Given the description of an element on the screen output the (x, y) to click on. 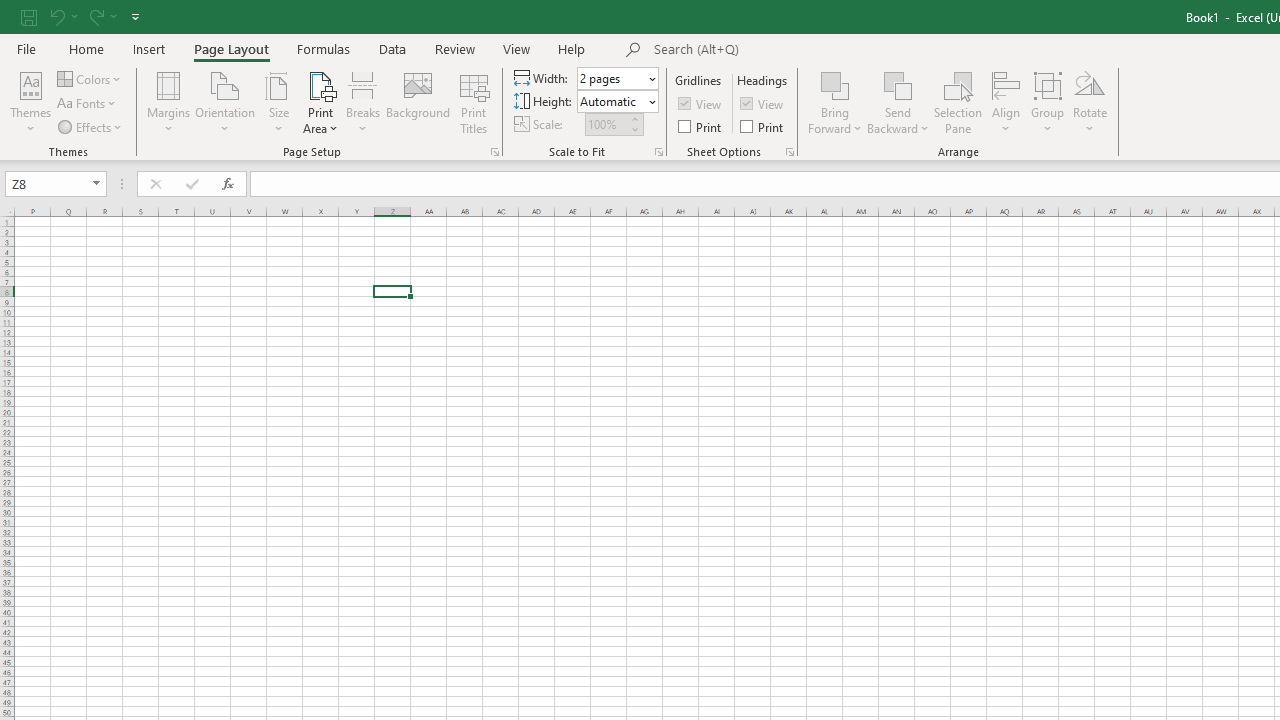
Height (618, 101)
Rotate (1089, 102)
Less (633, 129)
Effects (91, 126)
Align (1005, 102)
Print Titles (474, 102)
Bring Forward (835, 84)
Send Backward (898, 102)
